Given the description of an element on the screen output the (x, y) to click on. 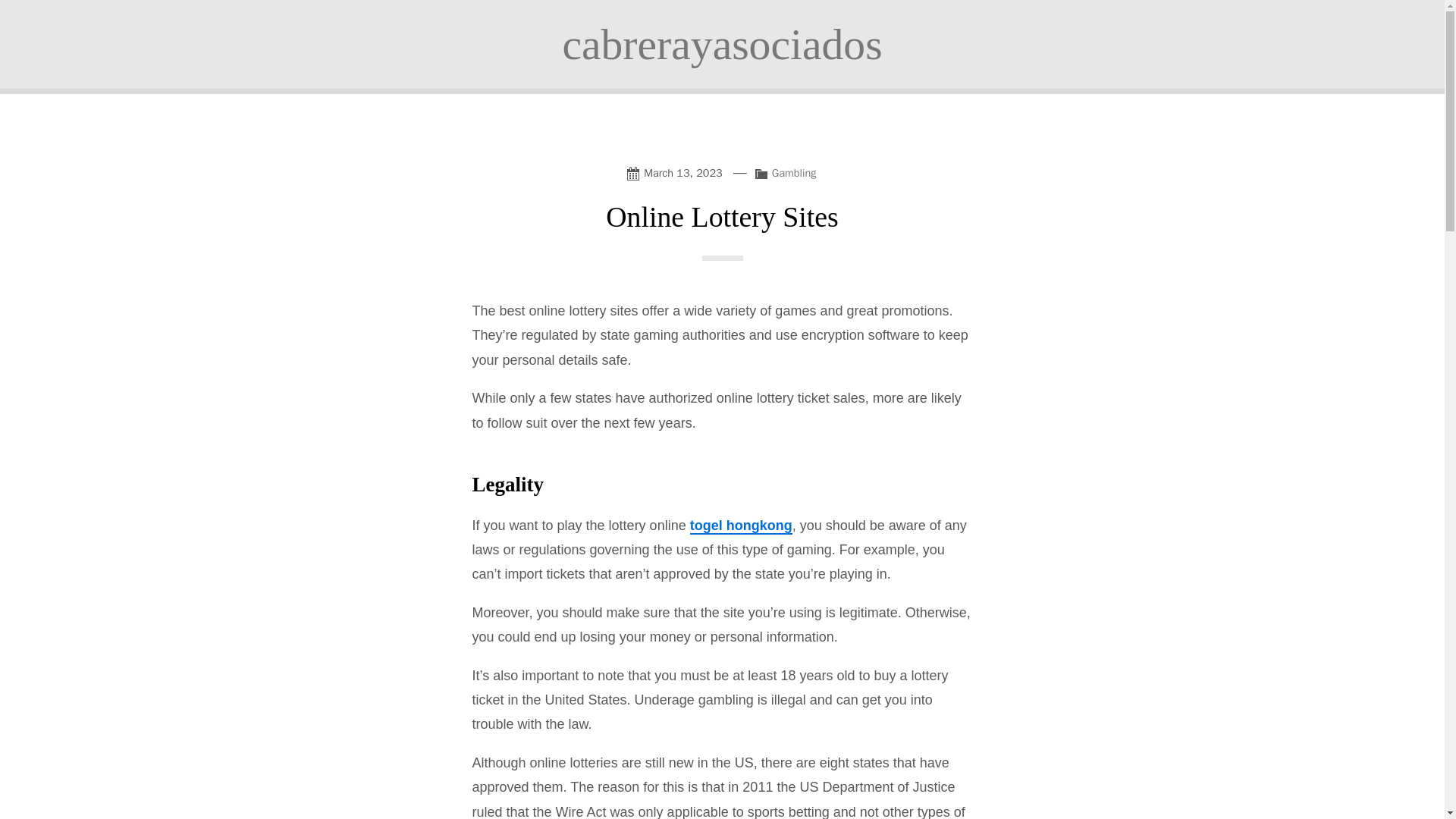
togel hongkong (741, 525)
Gambling (793, 172)
cabrerayasociados (722, 43)
